Given the description of an element on the screen output the (x, y) to click on. 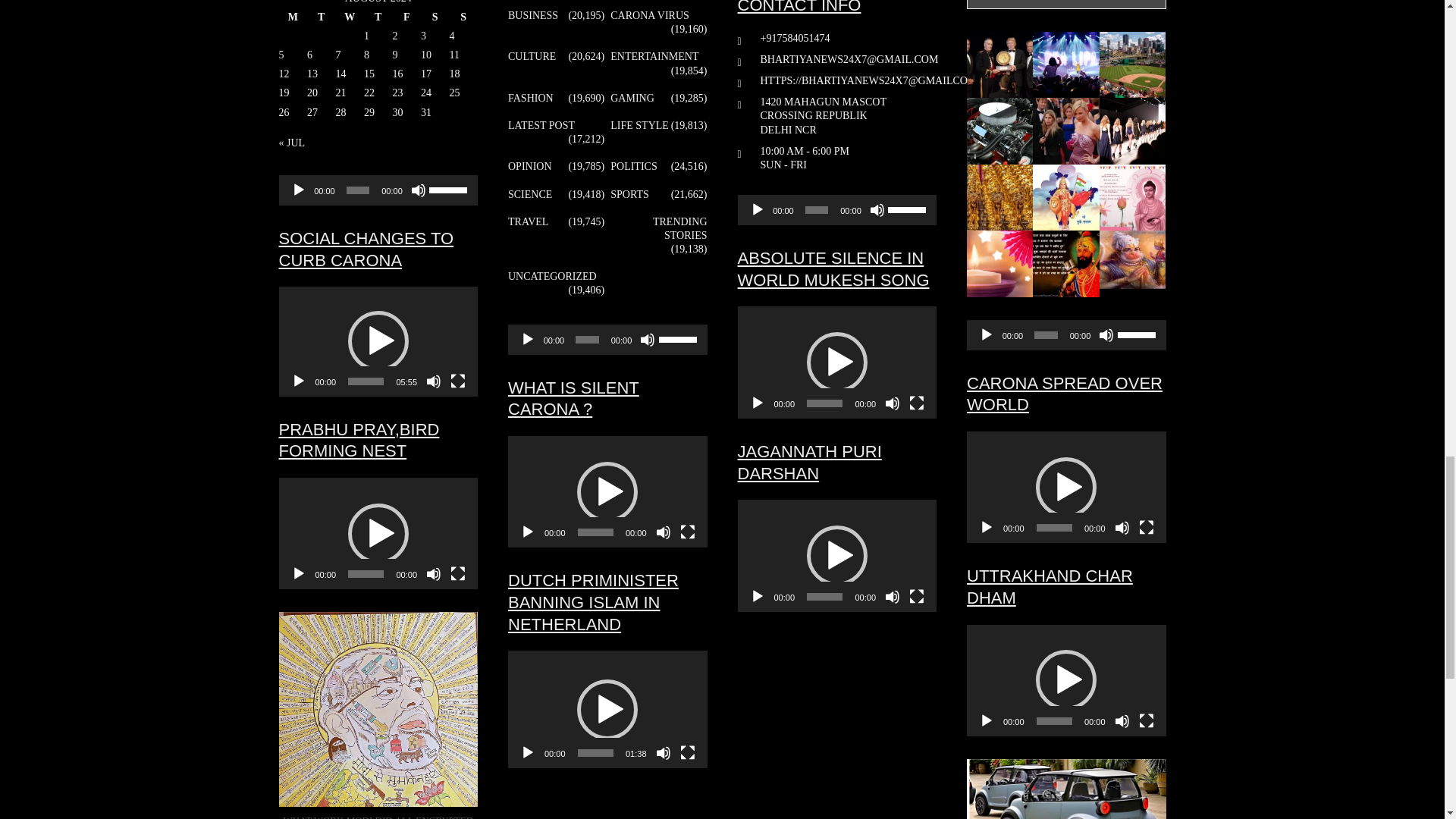
Friday (407, 16)
Tuesday (321, 16)
Wednesday (349, 16)
Thursday (378, 16)
Monday (293, 16)
